Given the description of an element on the screen output the (x, y) to click on. 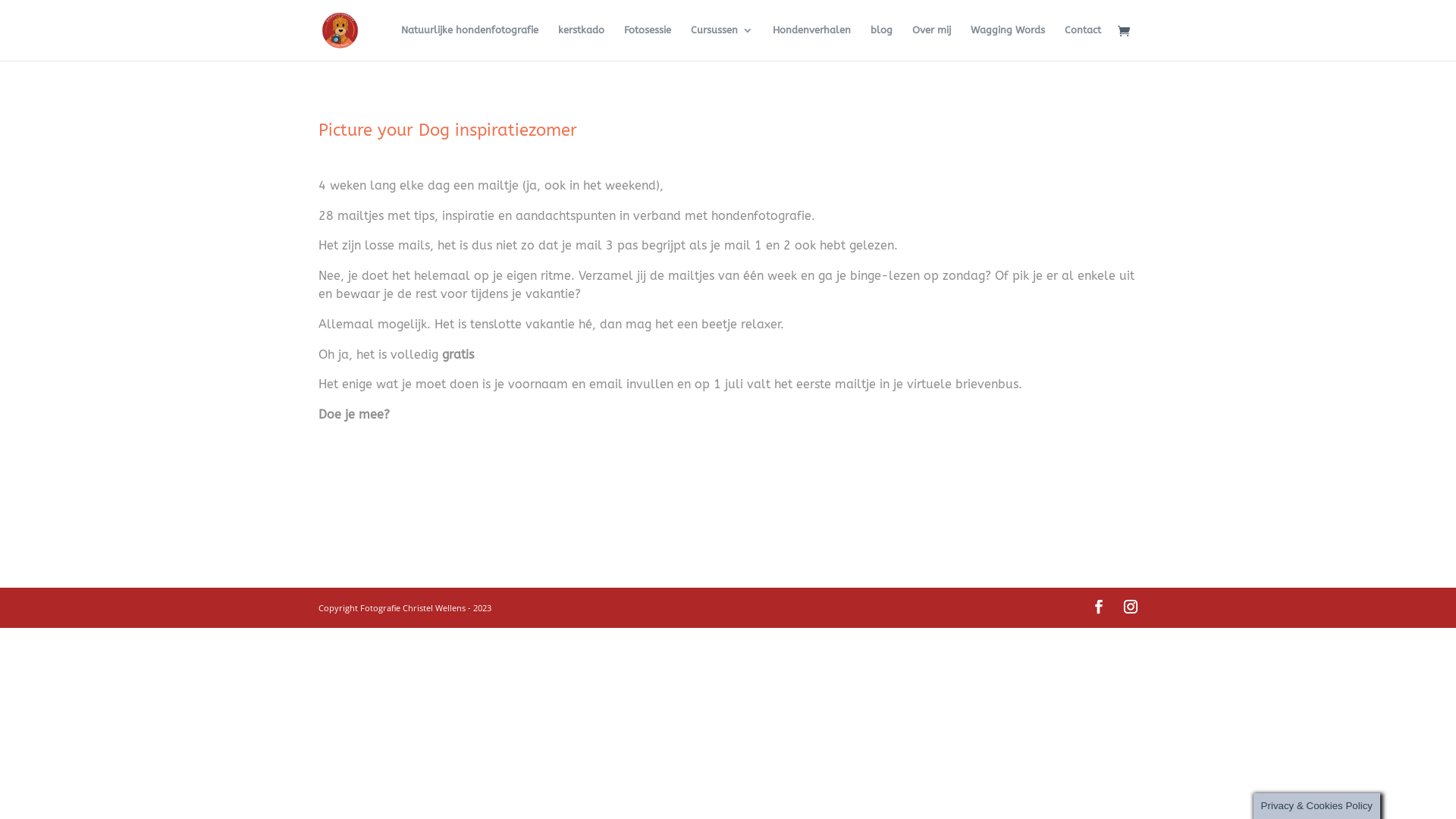
Fotosessie Element type: text (647, 42)
blog Element type: text (881, 42)
Cursussen Element type: text (721, 42)
kerstkado Element type: text (581, 42)
Natuurlijke hondenfotografie Element type: text (469, 42)
Hondenverhalen Element type: text (811, 42)
Wagging Words Element type: text (1007, 42)
Over mij Element type: text (931, 42)
Contact Element type: text (1082, 42)
